Given the description of an element on the screen output the (x, y) to click on. 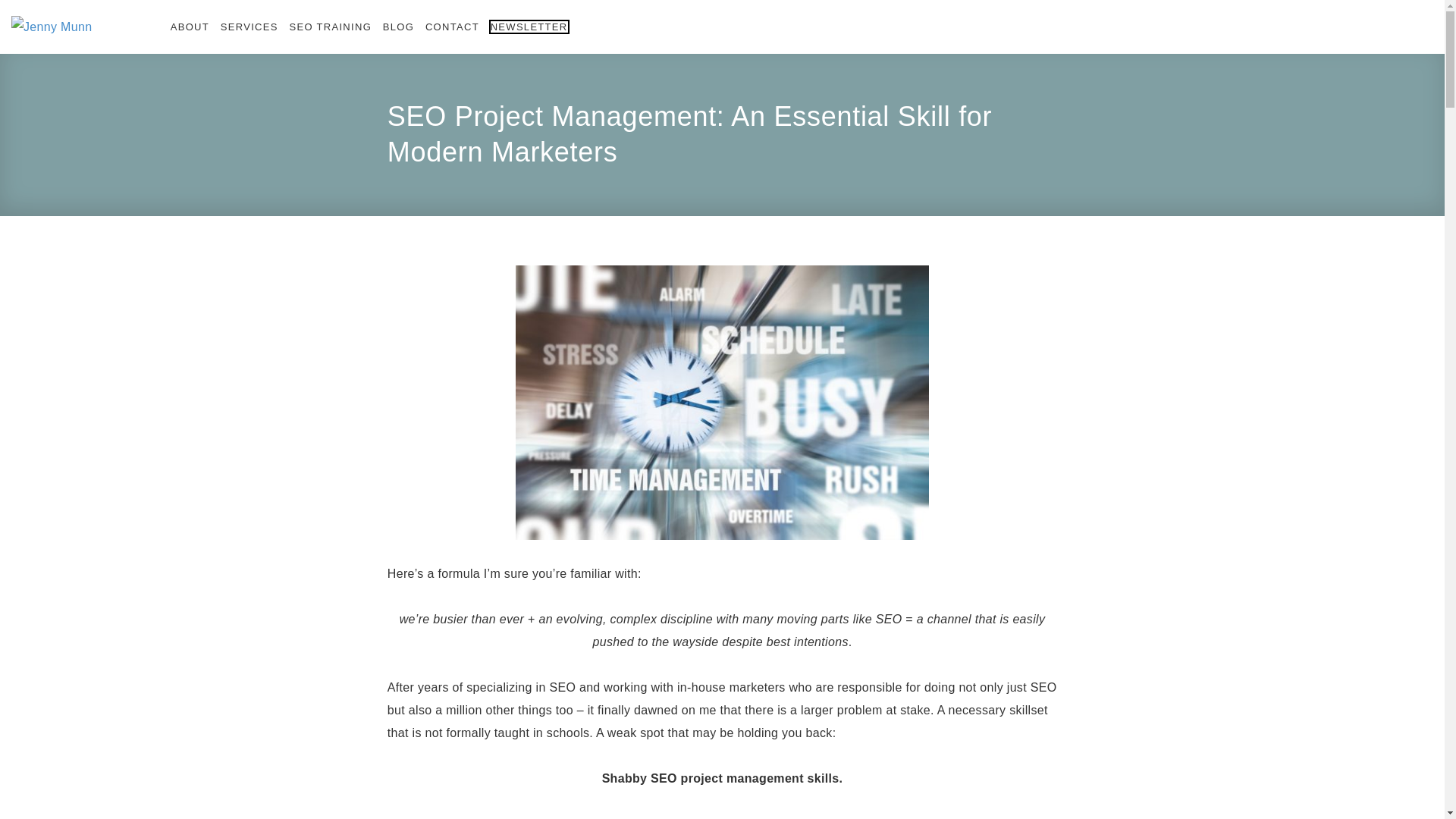
NEWSLETTER (528, 26)
CONTACT (452, 26)
SEO TRAINING (330, 26)
ABOUT (189, 26)
BLOG (397, 26)
SERVICES (249, 26)
Jenny Munn (87, 26)
